Given the description of an element on the screen output the (x, y) to click on. 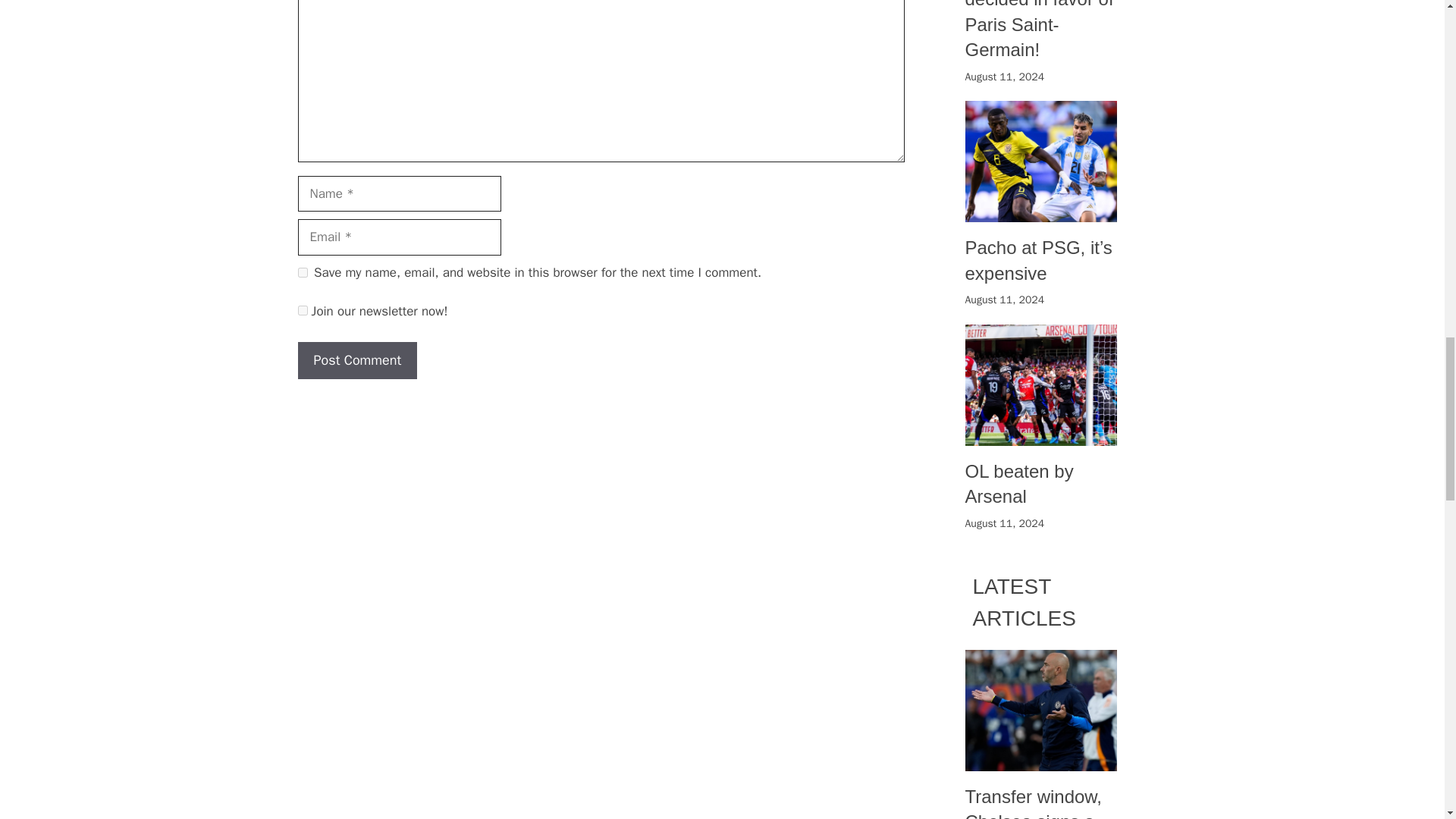
Post Comment (356, 360)
1 (302, 310)
yes (302, 272)
